Given the description of an element on the screen output the (x, y) to click on. 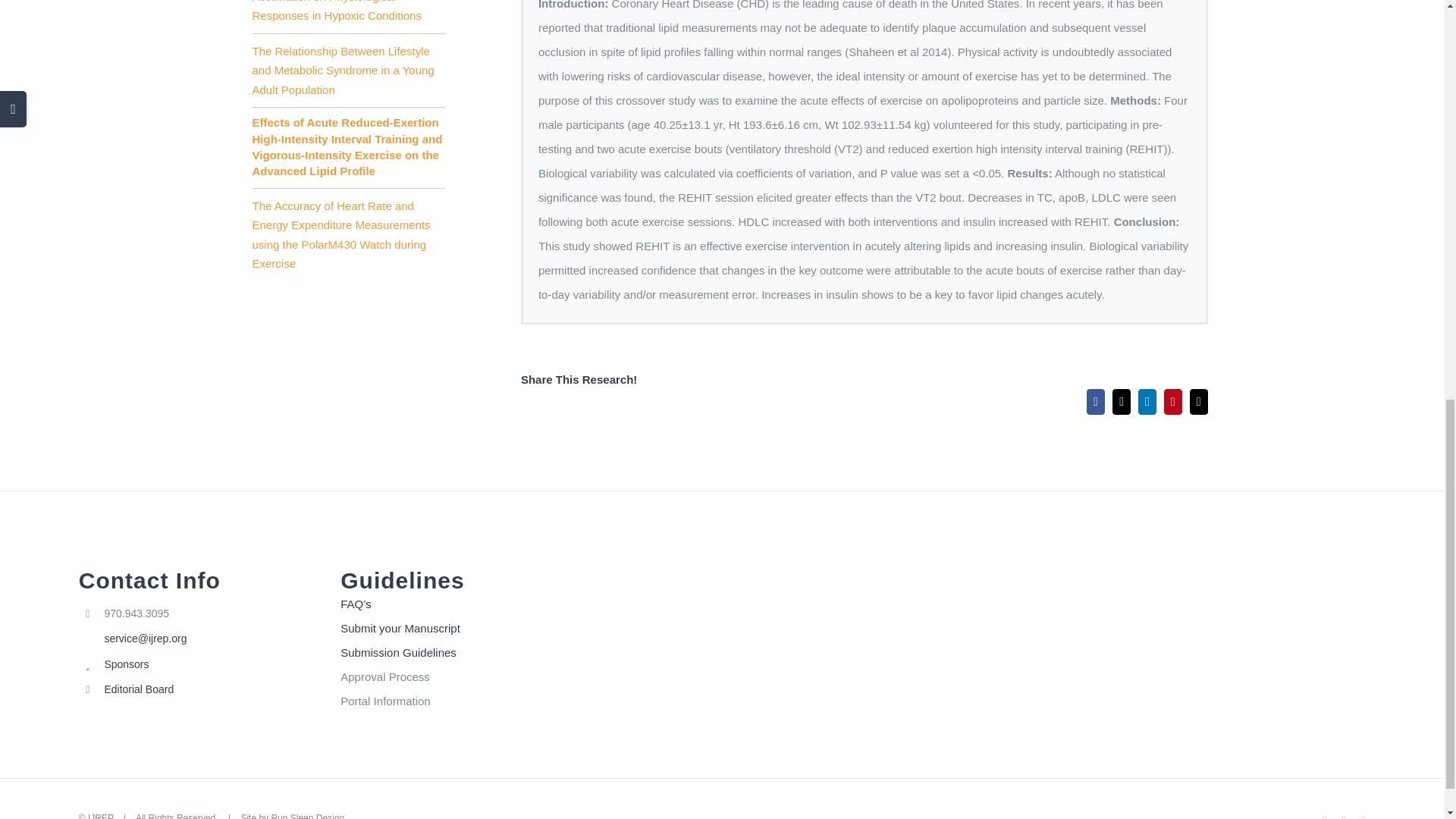
Editorial Board (210, 689)
Submit your Manuscript (459, 628)
Run Sleep Design (306, 816)
Sponsors (210, 665)
Submission Guidelines (459, 652)
